Given the description of an element on the screen output the (x, y) to click on. 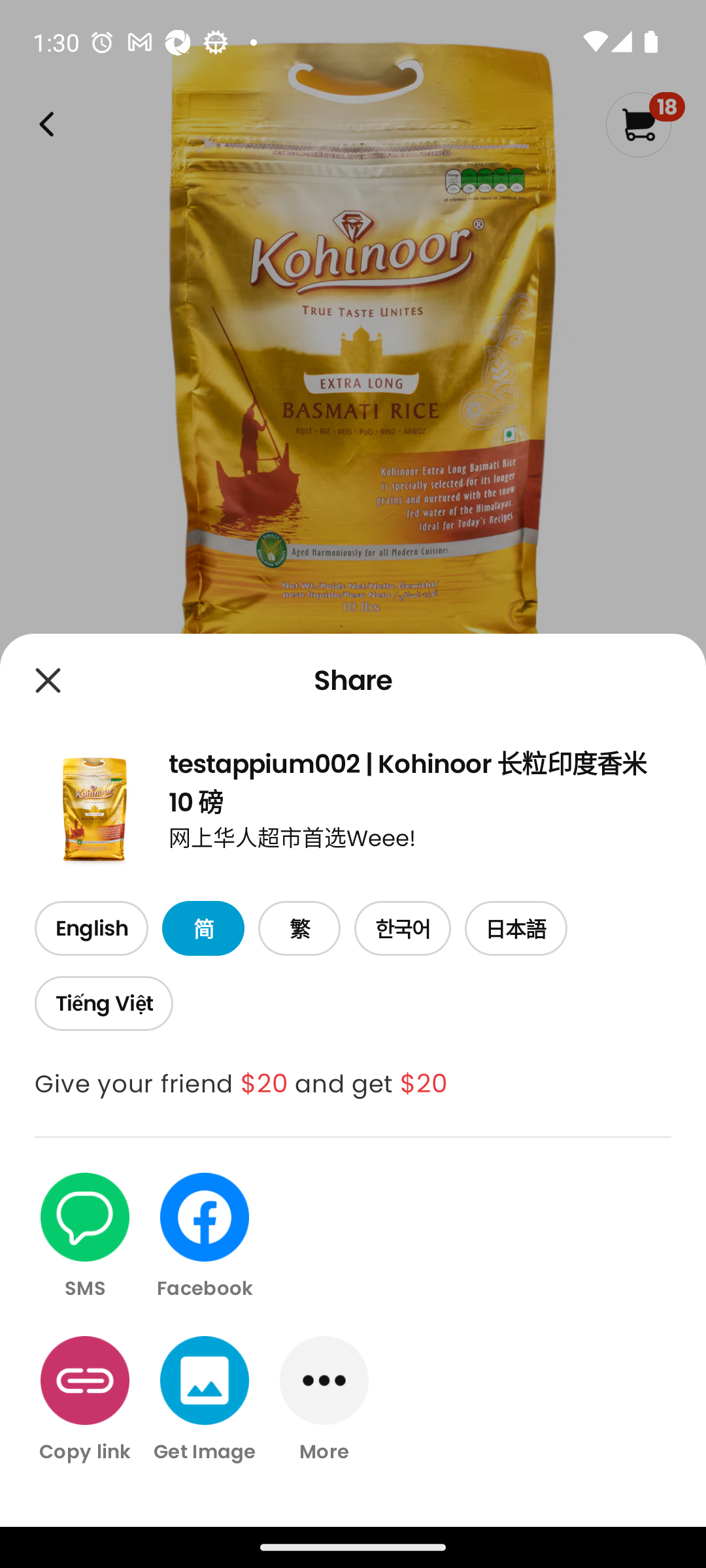
English (91, 928)
简 (203, 928)
繁 (299, 928)
한국어 (402, 928)
日本語 (515, 928)
Tiếng Việt (103, 1003)
SMS (85, 1236)
Facebook (204, 1236)
Copy link (85, 1399)
Get Image (204, 1399)
More (324, 1399)
